Given the description of an element on the screen output the (x, y) to click on. 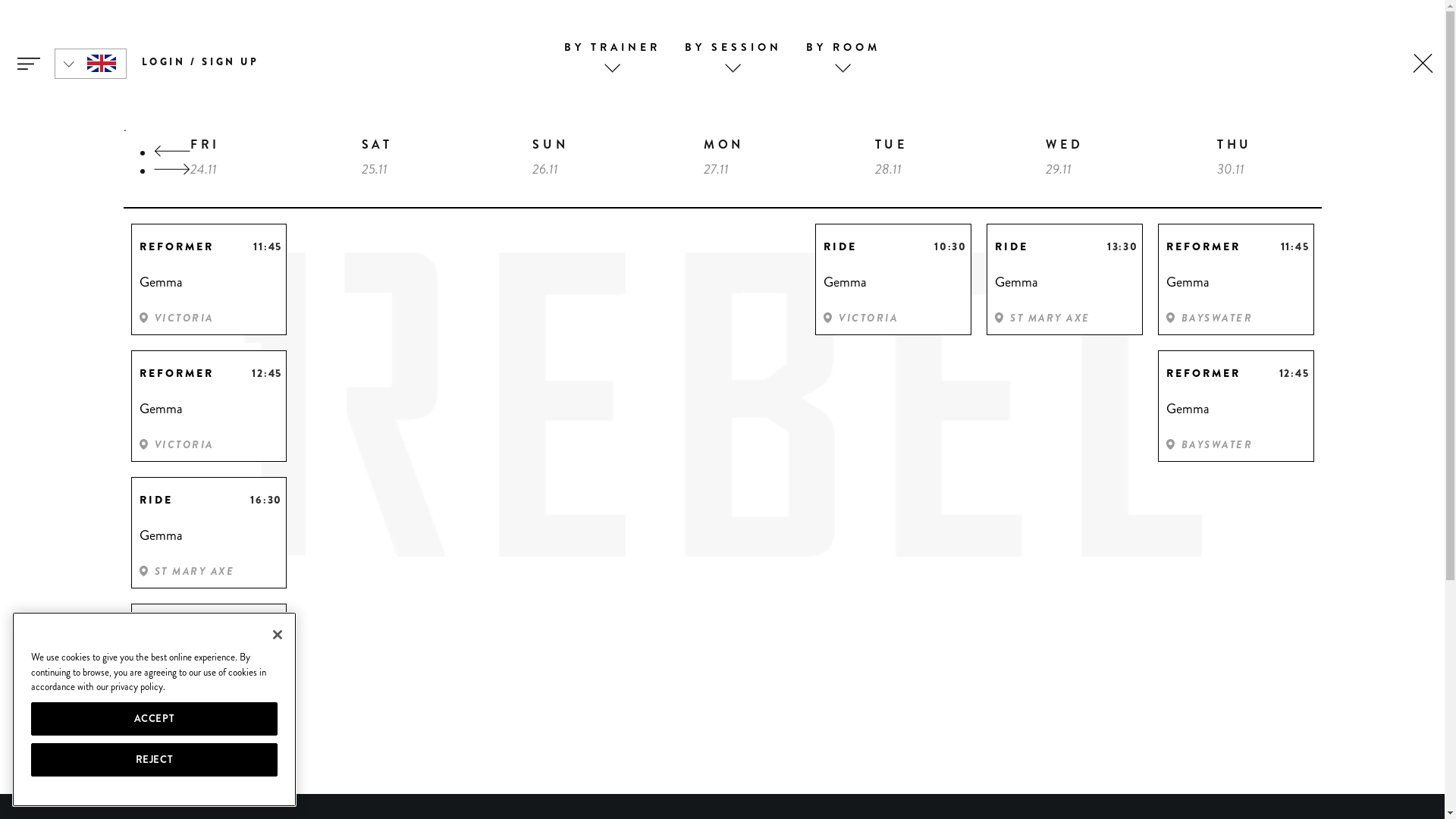
BY SESSION Element type: text (732, 46)
RIDE Element type: text (867, 244)
RIDE Element type: text (183, 498)
REFORMER Element type: text (183, 244)
REJECT Element type: text (154, 759)
RIDE Element type: text (1038, 244)
REFORMER Element type: text (1210, 371)
REFORMER Element type: text (1210, 244)
LOGIN / SIGN UP Element type: text (200, 61)
BY ROOM Element type: text (843, 46)
ACCEPT Element type: text (154, 718)
REFORMER Element type: text (183, 371)
BY TRAINER Element type: text (612, 46)
RIDE Element type: text (183, 624)
